Given the description of an element on the screen output the (x, y) to click on. 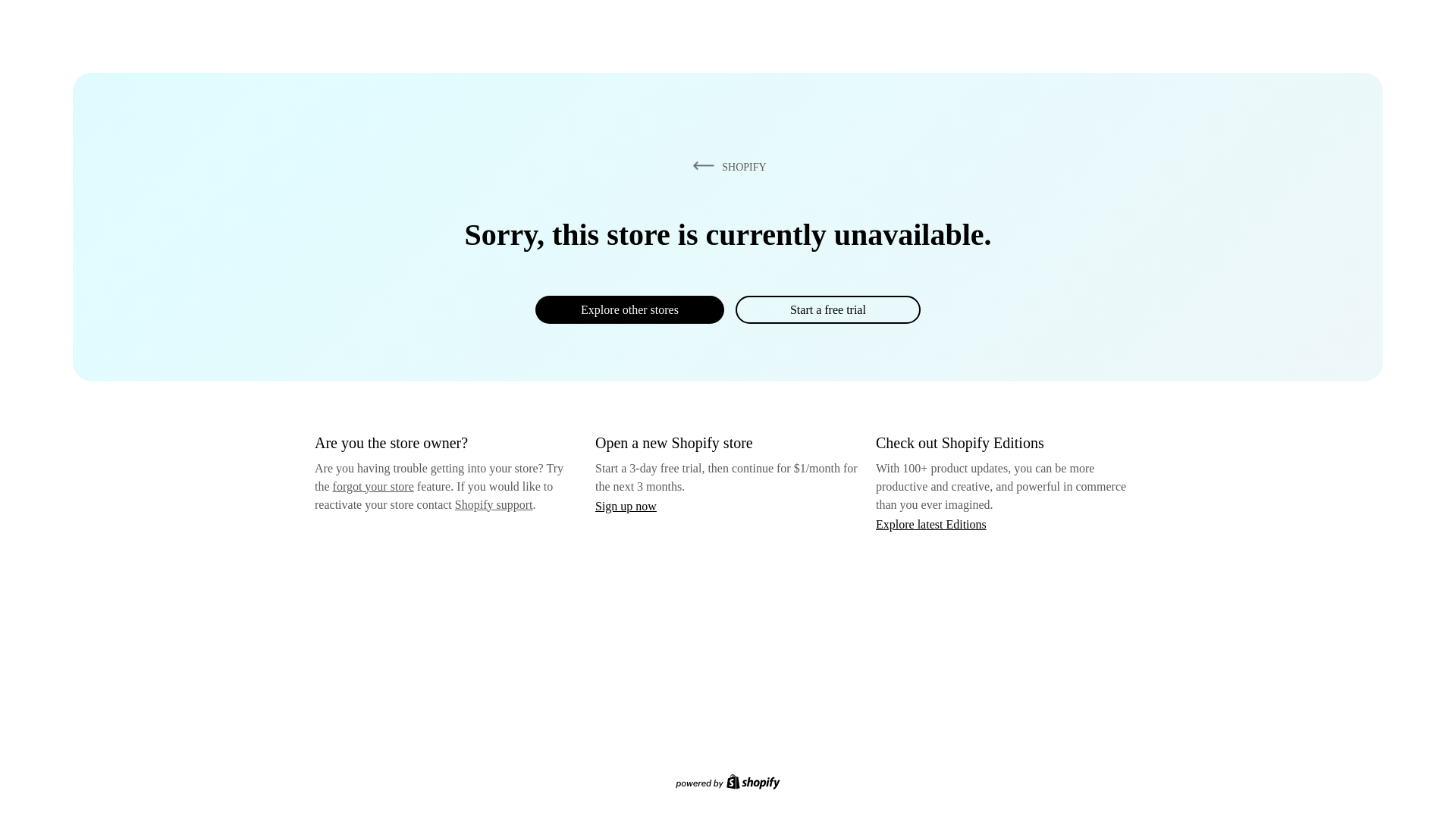
SHOPIFY (726, 166)
forgot your store (373, 486)
Explore other stores (629, 309)
Shopify support (493, 504)
Start a free trial (827, 309)
Explore latest Editions (931, 523)
Sign up now (625, 505)
